Given the description of an element on the screen output the (x, y) to click on. 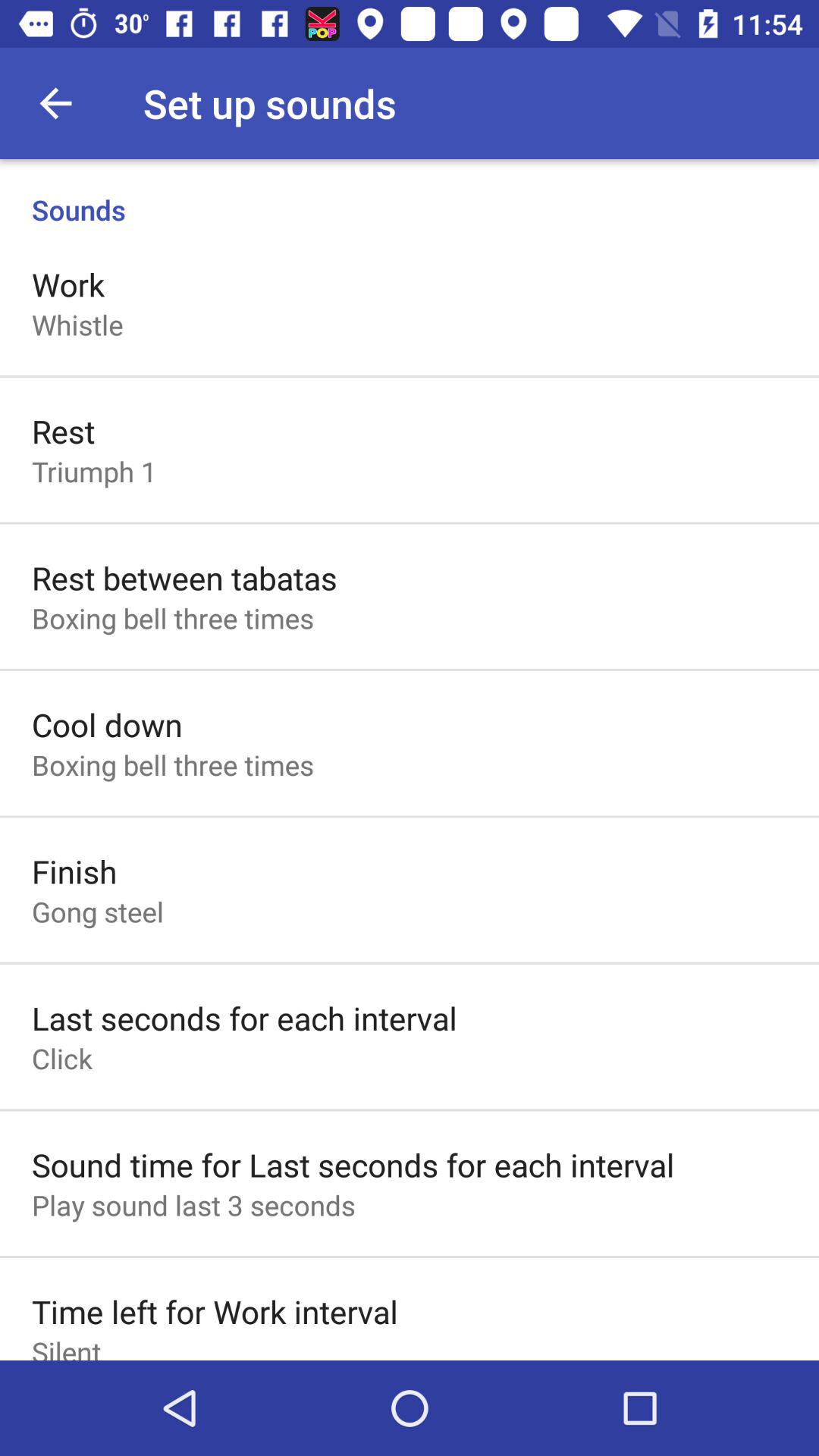
turn on the item below finish icon (97, 911)
